Given the description of an element on the screen output the (x, y) to click on. 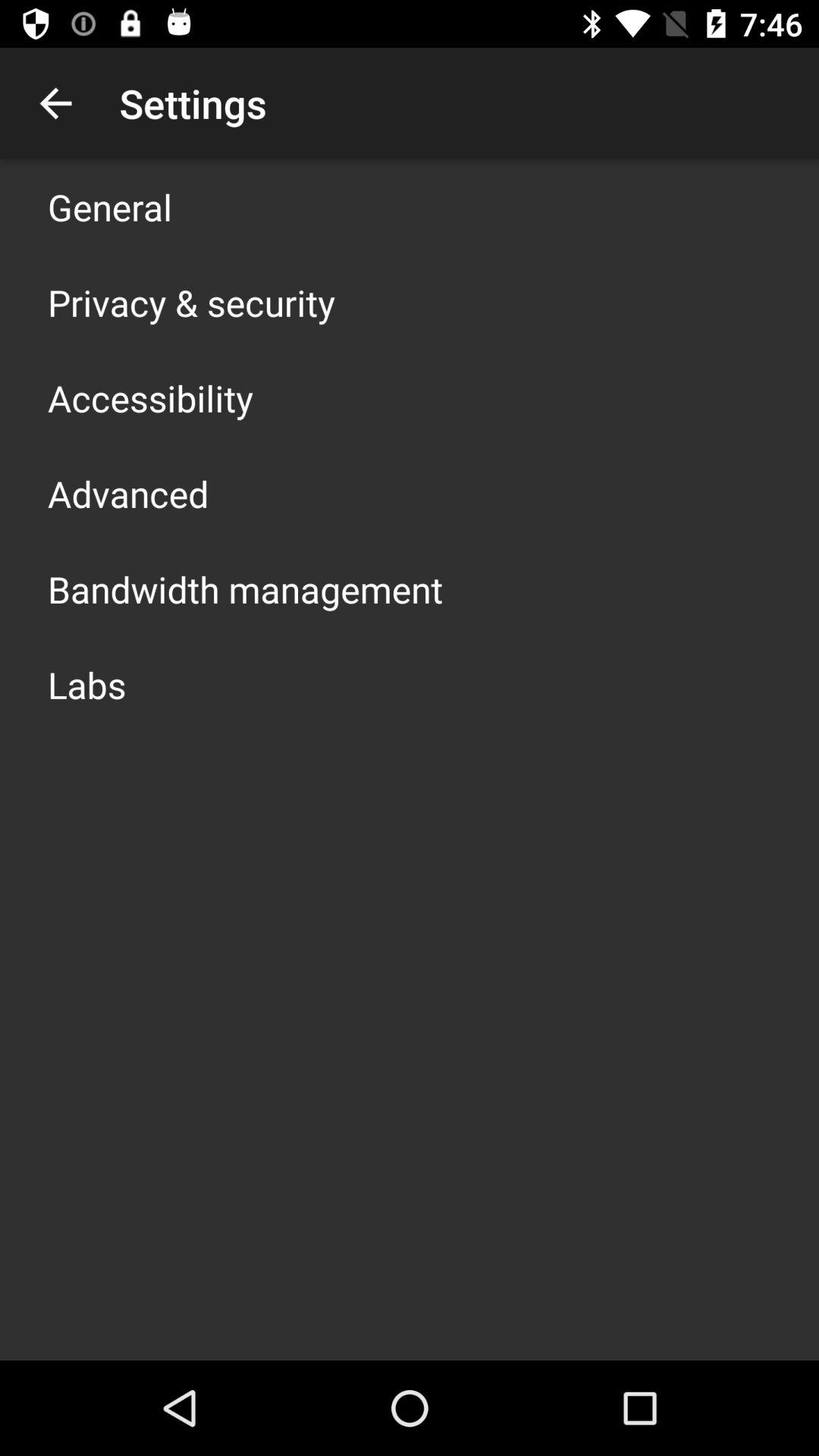
select item to the left of the settings (55, 103)
